Given the description of an element on the screen output the (x, y) to click on. 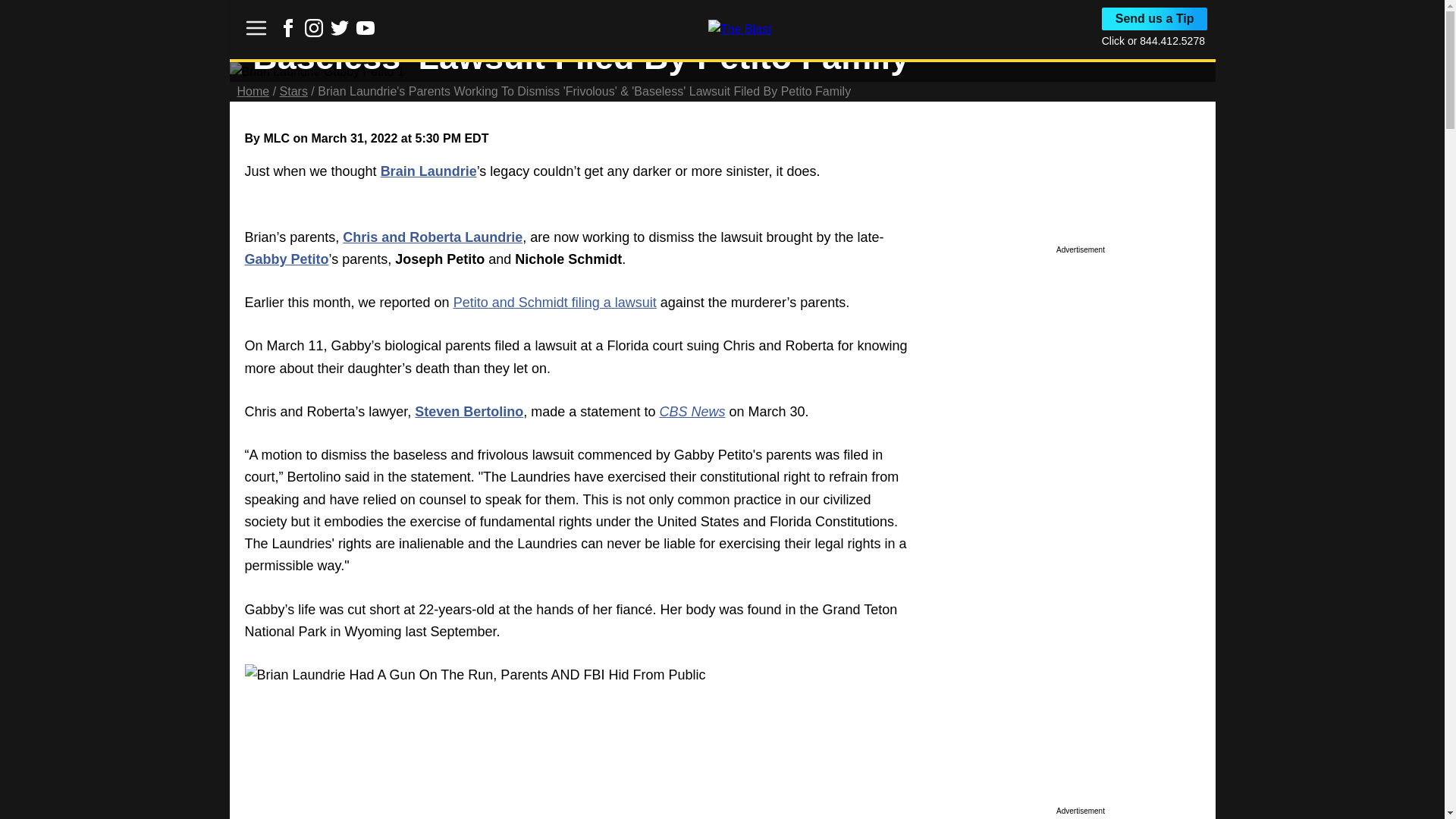
MLC (276, 137)
Click or 844.412.5278 (1153, 40)
Brain Laundrie (428, 171)
Link to Instagram (313, 27)
Link to Youtube (365, 27)
Send us a Tip (1155, 18)
Chris and Roberta Laundrie (432, 236)
Home (252, 91)
Gabby Petito (286, 258)
Link to Facebook (288, 31)
